Given the description of an element on the screen output the (x, y) to click on. 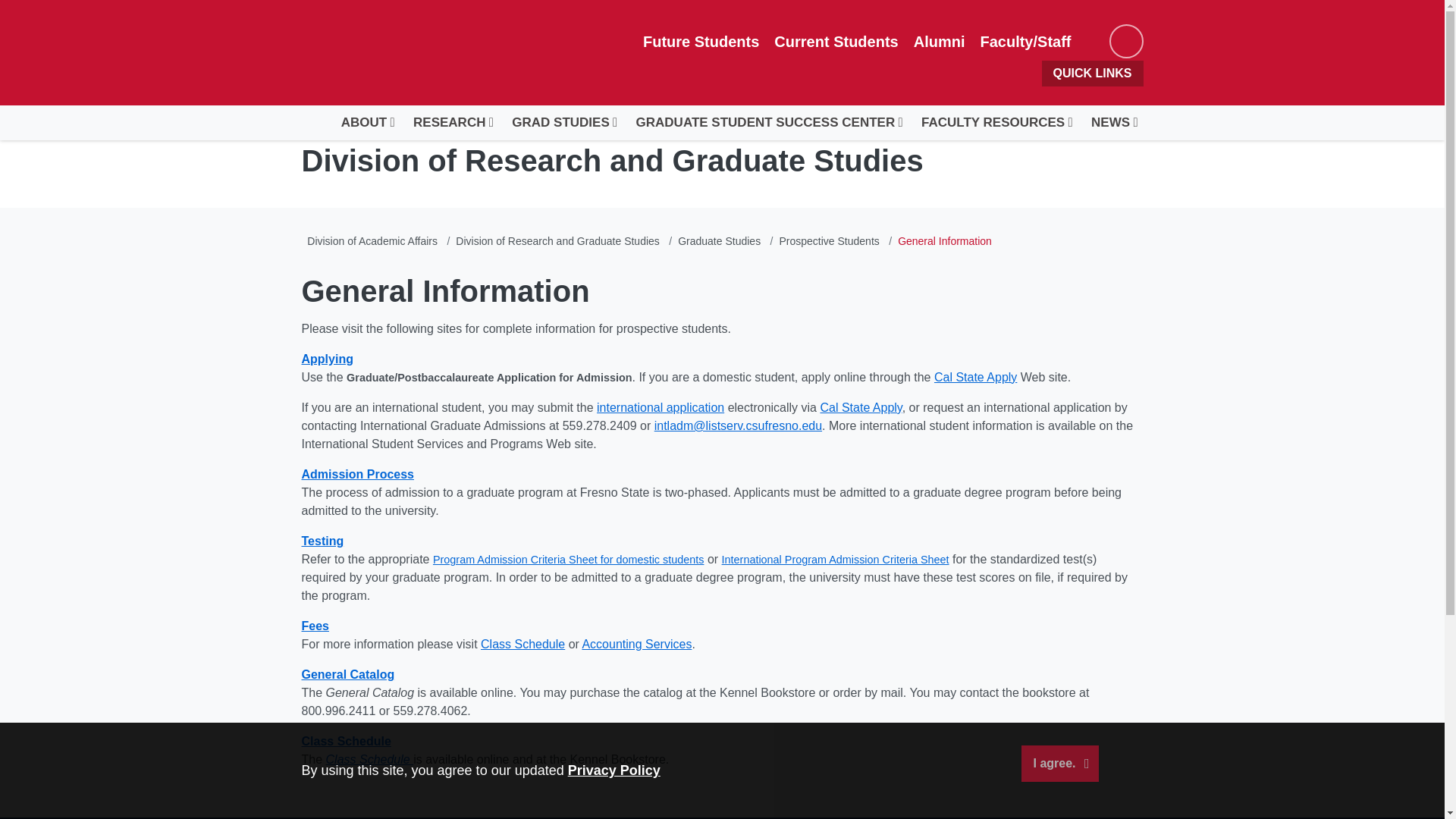
Privacy Policy (614, 770)
ABOUT (362, 122)
HOME (315, 112)
Alumni (938, 41)
Quick Links (1092, 73)
Current Students (836, 41)
I agree. (1059, 763)
Future Students (700, 41)
Search (1125, 41)
